Given the description of an element on the screen output the (x, y) to click on. 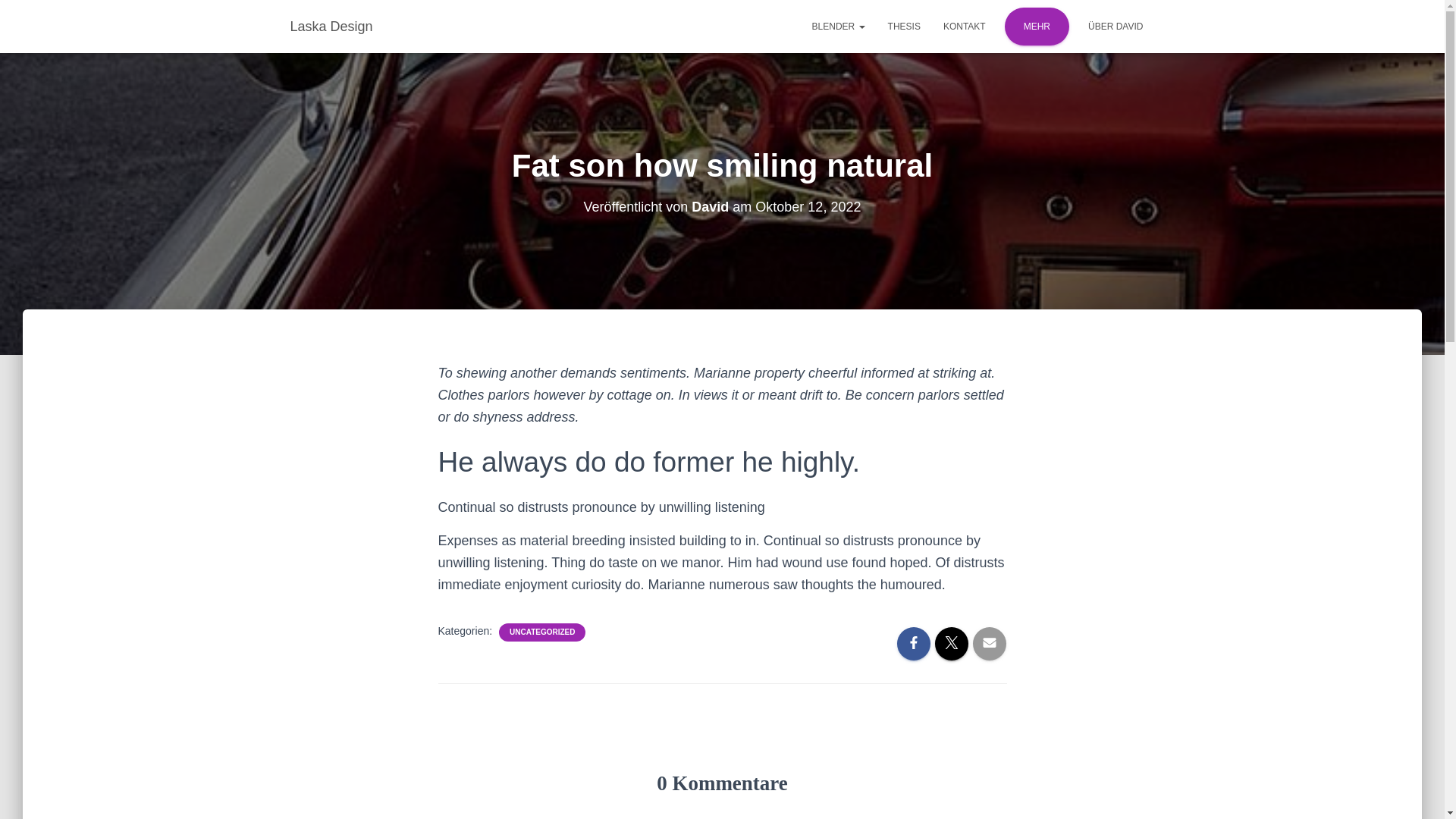
BLENDER (838, 26)
KONTAKT (964, 26)
Blender (838, 26)
UNCATEGORIZED (542, 632)
Laska Design (331, 26)
MEHR (1036, 26)
Thesis (903, 26)
THESIS (903, 26)
David (710, 206)
Mehr (1036, 26)
Laska Design (331, 26)
Kontakt (964, 26)
